Given the description of an element on the screen output the (x, y) to click on. 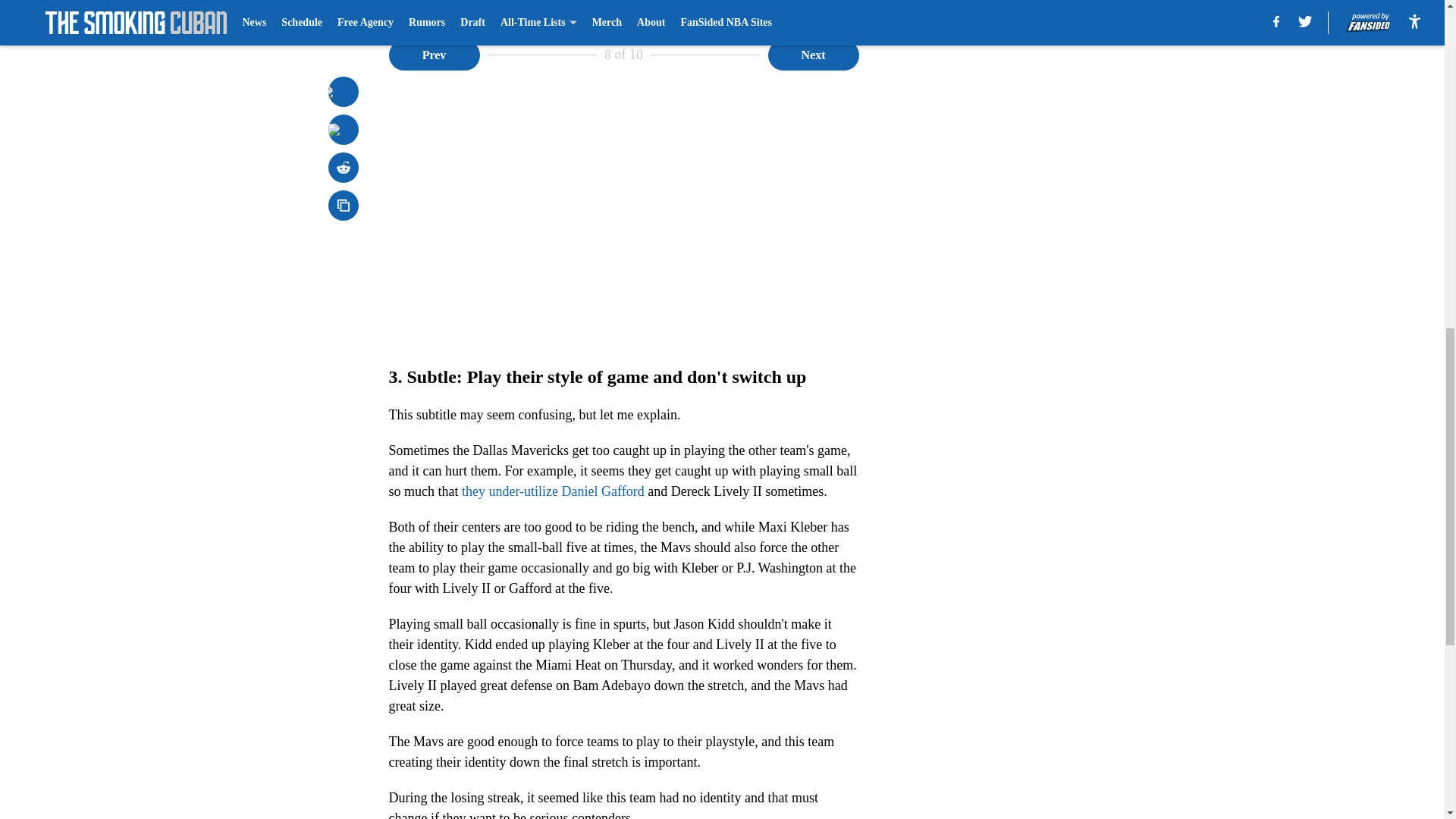
Prev (433, 54)
Next (813, 54)
they under-utilize Daniel Gafford (553, 491)
